Given the description of an element on the screen output the (x, y) to click on. 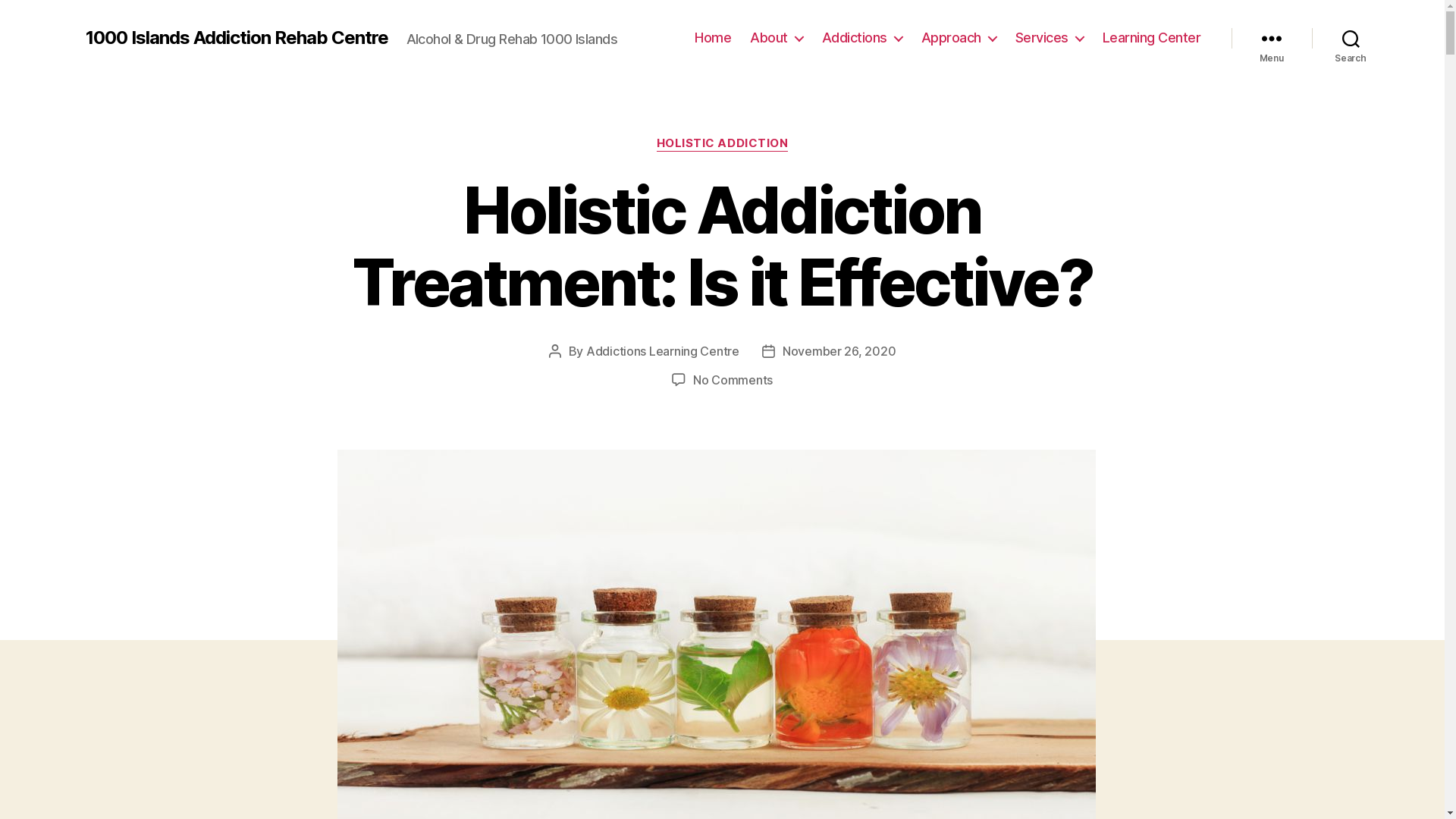
Services Element type: text (1049, 37)
Menu Element type: text (1271, 37)
November 26, 2020 Element type: text (838, 350)
Addictions Element type: text (862, 37)
Learning Center Element type: text (1151, 37)
Home Element type: text (712, 37)
Addictions Learning Centre Element type: text (662, 350)
1000 Islands Addiction Rehab Centre Element type: text (235, 37)
Search Element type: text (1350, 37)
Approach Element type: text (958, 37)
About Element type: text (776, 37)
HOLISTIC ADDICTION Element type: text (722, 143)
